Given the description of an element on the screen output the (x, y) to click on. 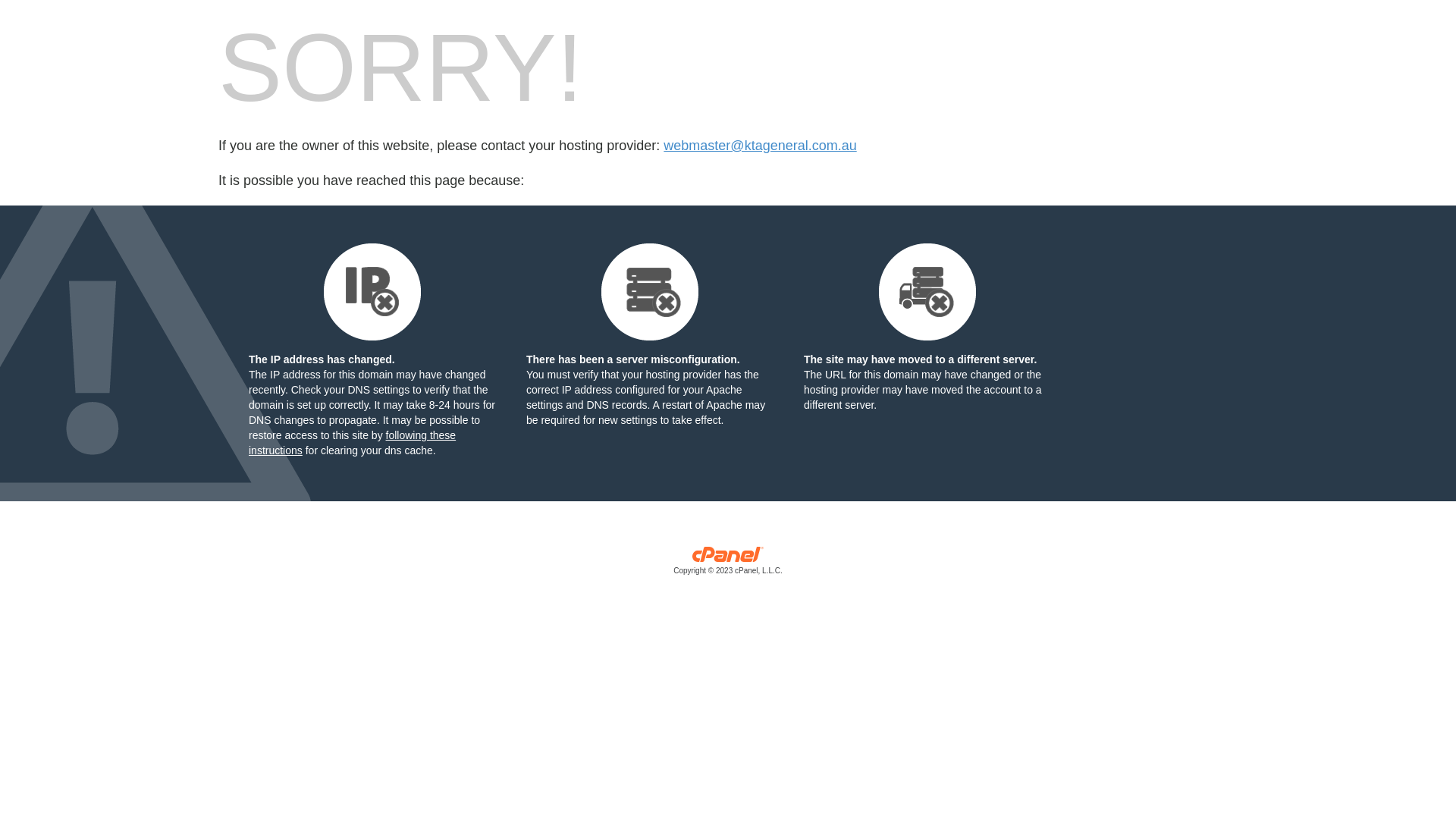
following these instructions Element type: text (351, 442)
webmaster@ktageneral.com.au Element type: text (759, 145)
